Given the description of an element on the screen output the (x, y) to click on. 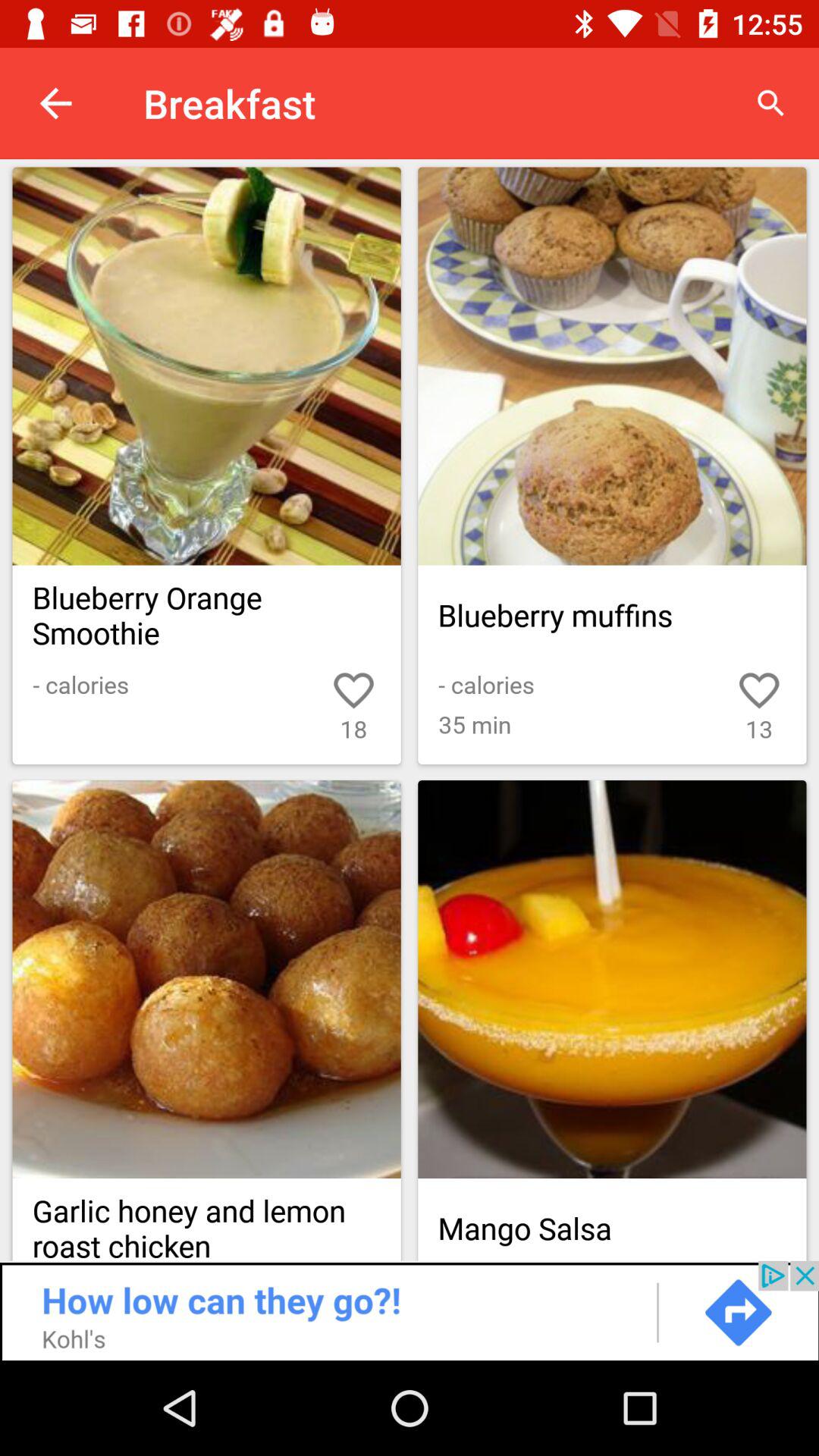
open recipes (409, 417)
